Given the description of an element on the screen output the (x, y) to click on. 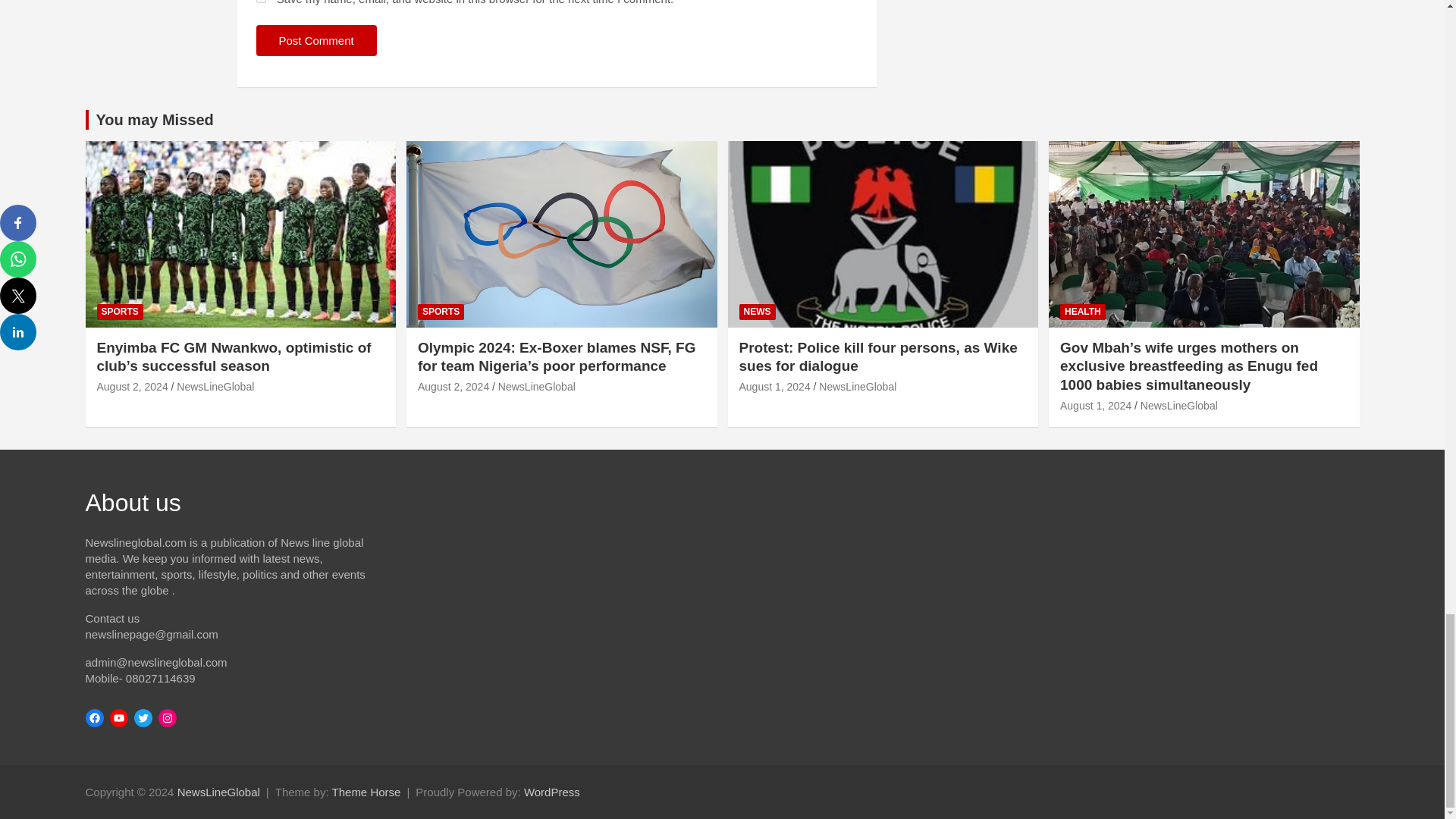
Post Comment (316, 40)
yes (261, 1)
